Given the description of an element on the screen output the (x, y) to click on. 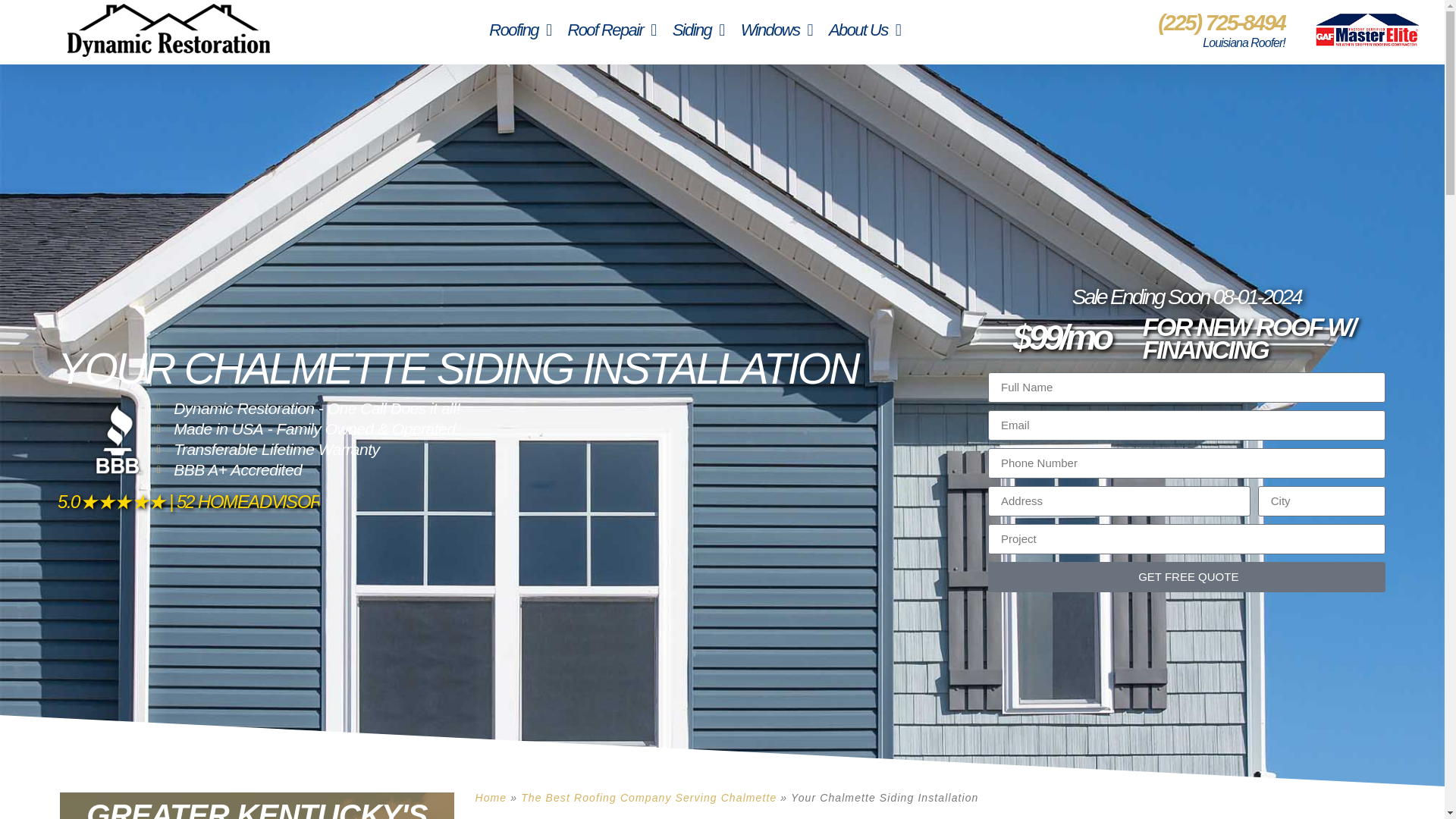
Windows (776, 30)
Roofing (519, 30)
About Us (864, 30)
Roof Repair (611, 30)
Siding (697, 30)
